Given the description of an element on the screen output the (x, y) to click on. 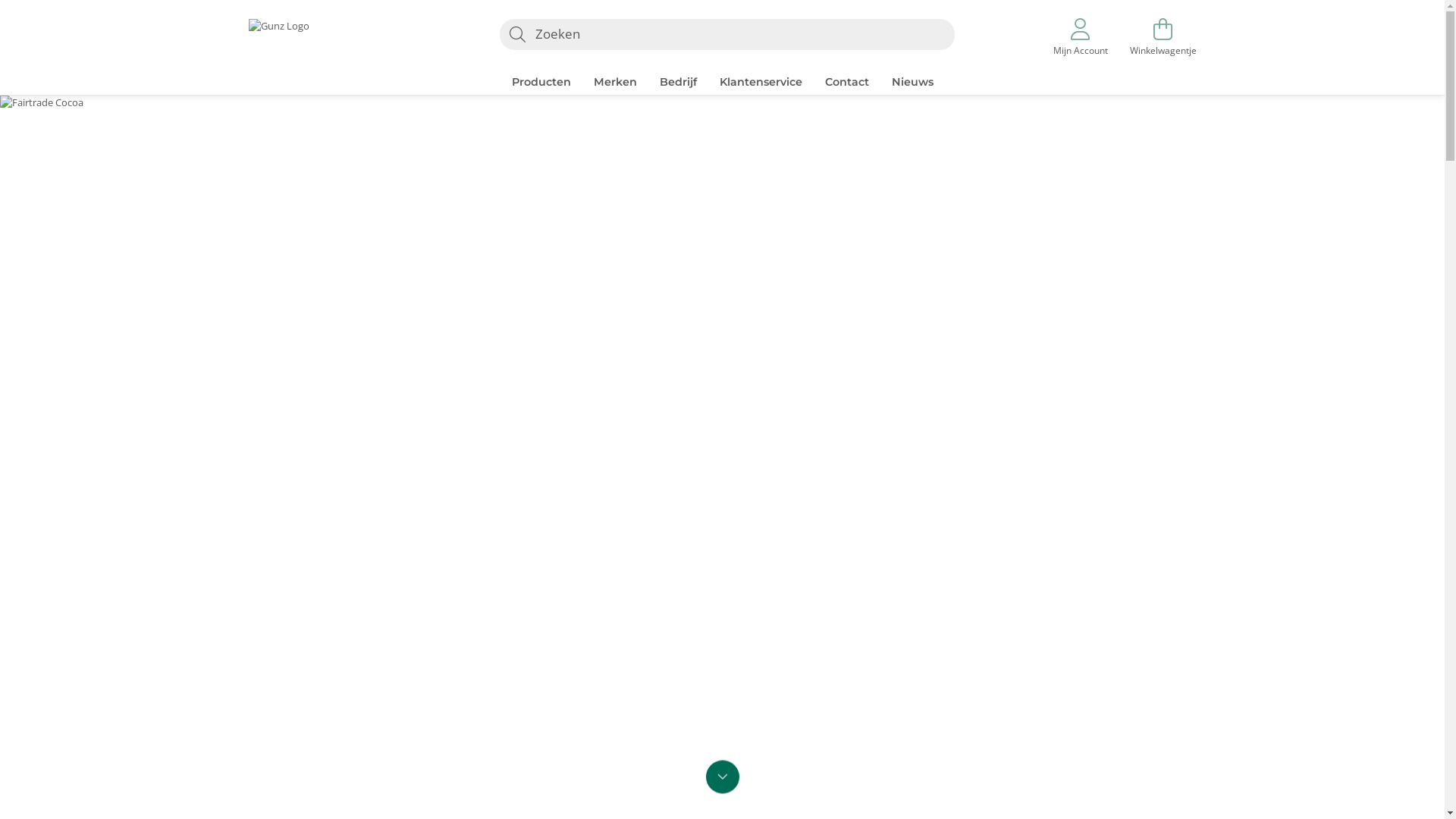
Zoeken Element type: hover (517, 35)
To the page content Element type: hover (721, 775)
Winkelwagentje Element type: text (1162, 38)
Mijn Account Element type: text (1080, 38)
